Given the description of an element on the screen output the (x, y) to click on. 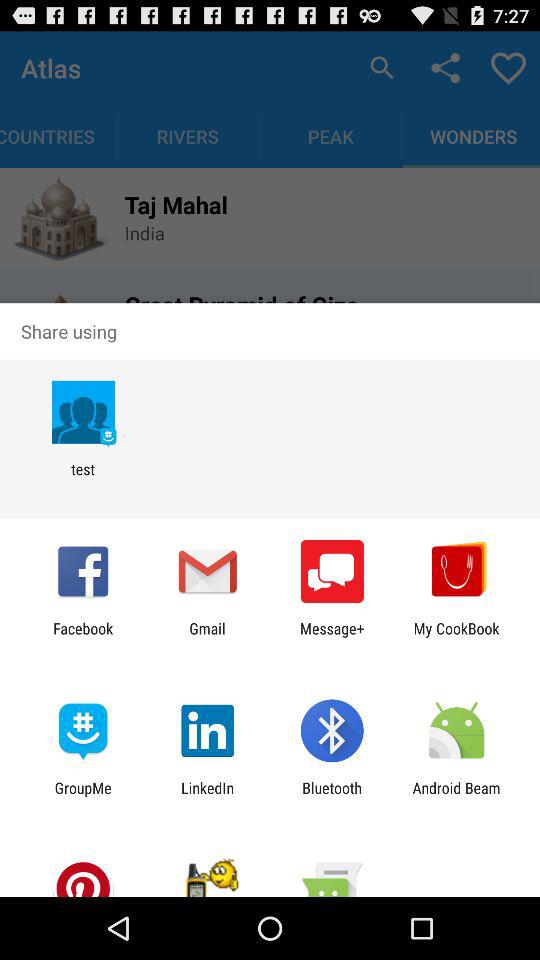
jump to the my cookbook (456, 637)
